Given the description of an element on the screen output the (x, y) to click on. 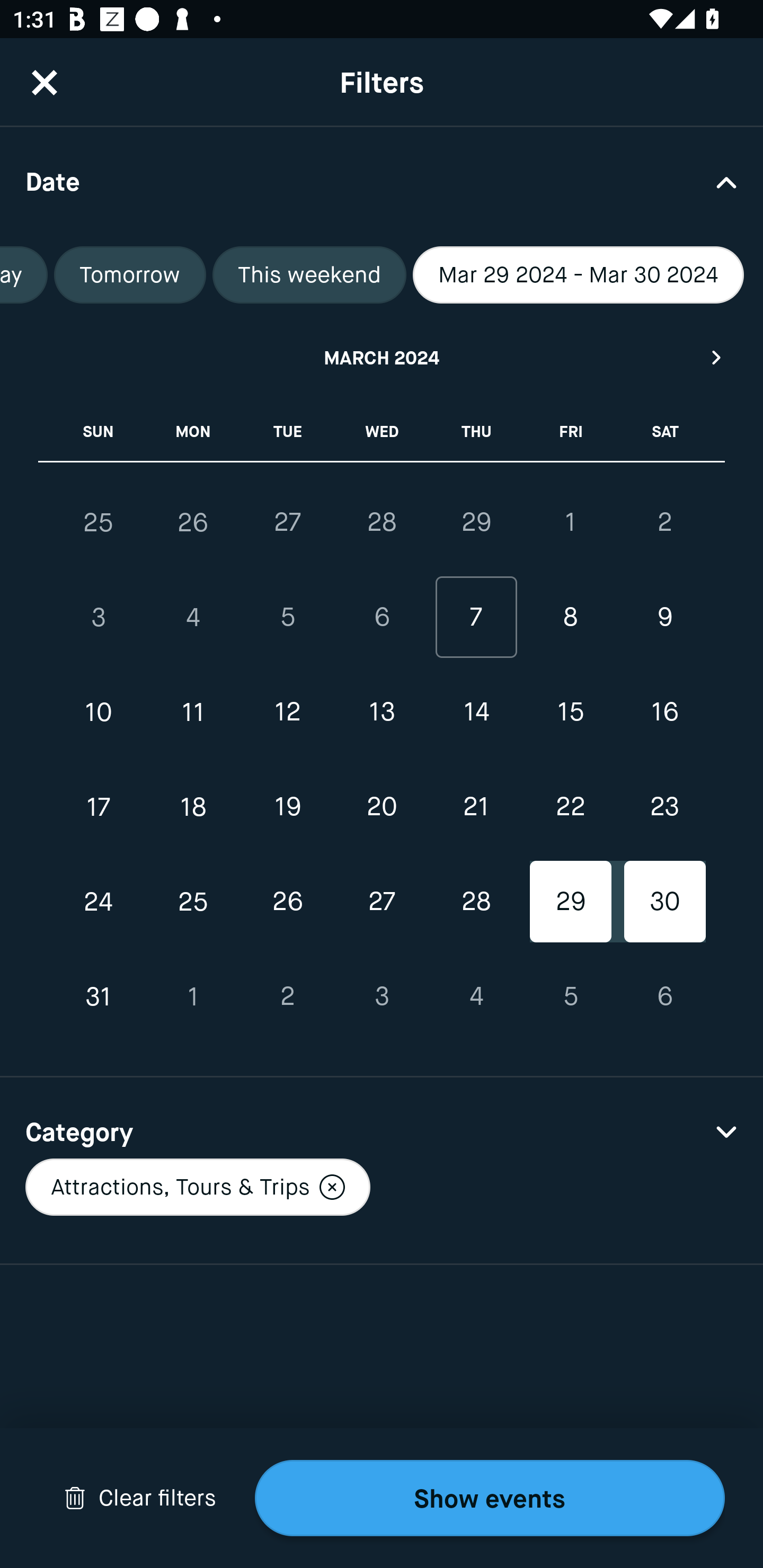
CloseButton (44, 82)
Date Drop Down Arrow (381, 181)
Tomorrow (130, 274)
This weekend (309, 274)
Mar 29 2024 - Mar 30 2024 (577, 274)
Next (717, 357)
25 (98, 522)
26 (192, 522)
27 (287, 522)
28 (381, 522)
29 (475, 522)
1 (570, 522)
2 (664, 522)
3 (98, 617)
4 (192, 617)
5 (287, 617)
6 (381, 617)
7 (475, 617)
8 (570, 617)
9 (664, 617)
10 (98, 711)
11 (192, 711)
12 (287, 711)
13 (381, 711)
14 (475, 711)
15 (570, 711)
16 (664, 711)
17 (98, 806)
18 (192, 806)
19 (287, 806)
20 (381, 806)
21 (475, 806)
22 (570, 806)
23 (664, 806)
24 (98, 901)
25 (192, 901)
26 (287, 901)
27 (381, 901)
28 (475, 901)
29 (570, 901)
30 (664, 901)
31 (98, 996)
1 (192, 996)
2 (287, 996)
3 (381, 996)
4 (475, 996)
5 (570, 996)
6 (664, 996)
Attractions, Tours & Trips Localized description (197, 1186)
Drop Down Arrow Clear filters (139, 1497)
Show events (489, 1497)
